Given the description of an element on the screen output the (x, y) to click on. 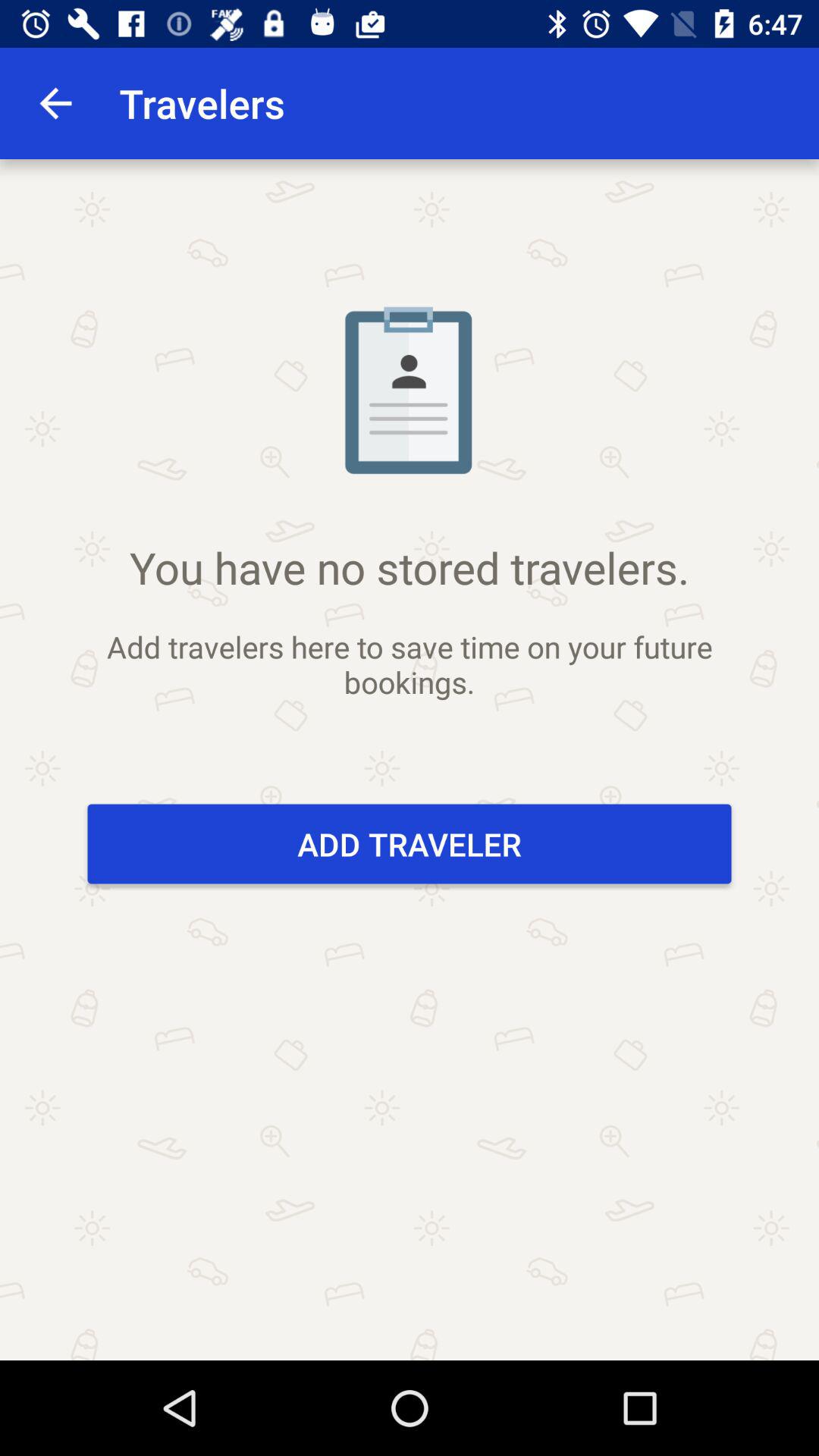
scroll to the add traveler (409, 843)
